Given the description of an element on the screen output the (x, y) to click on. 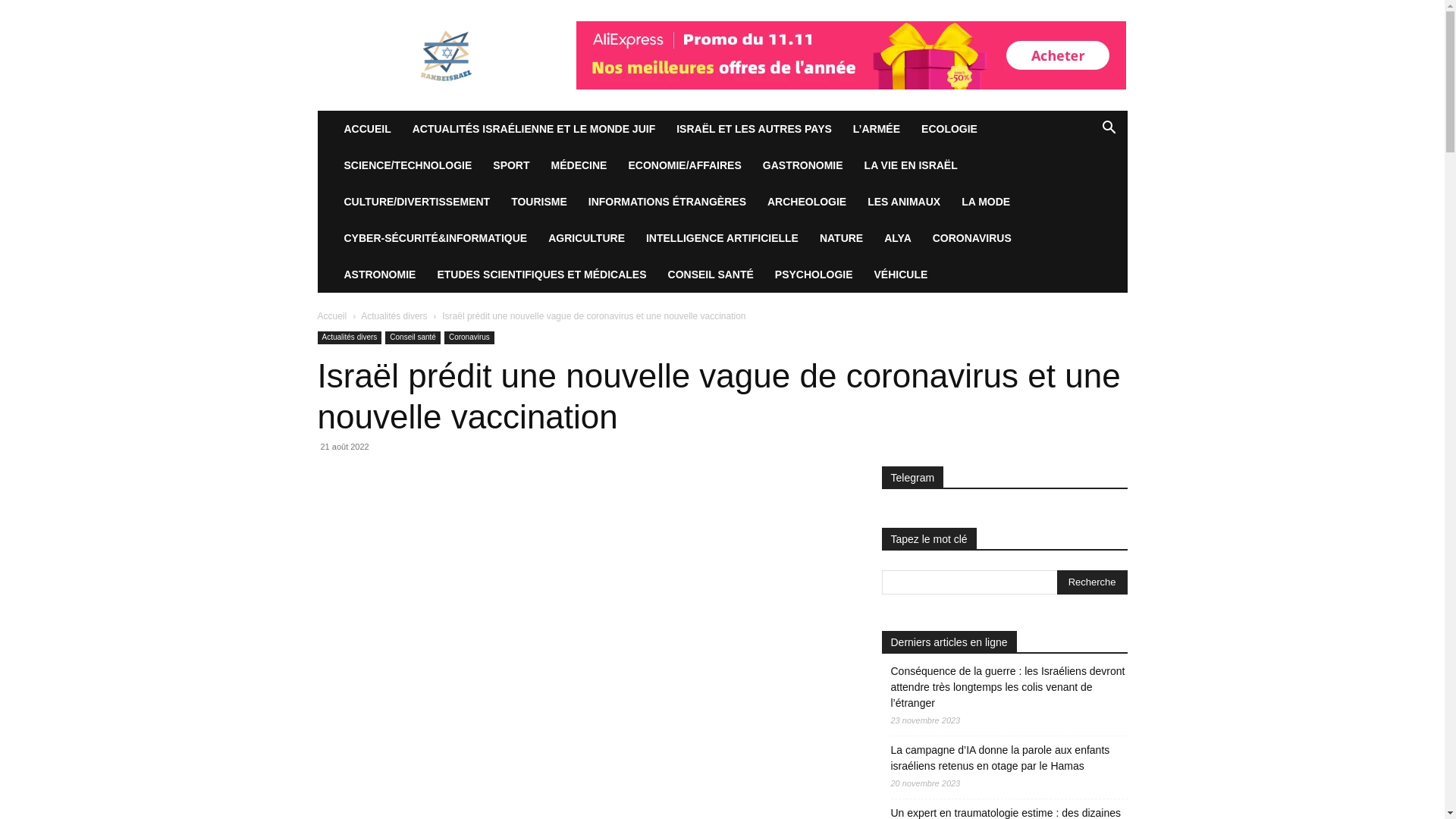
ALYA Element type: text (897, 237)
ECOLOGIE Element type: text (949, 128)
NATURE Element type: text (841, 237)
LA MODE Element type: text (985, 201)
LES ANIMAUX Element type: text (903, 201)
Coronavirus Element type: text (469, 337)
ASTRONOMIE Element type: text (379, 274)
PSYCHOLOGIE Element type: text (813, 274)
Recherche Element type: text (1092, 582)
TOURISME Element type: text (538, 201)
ARCHEOLOGIE Element type: text (806, 201)
Recherche Element type: text (1076, 189)
AGRICULTURE Element type: text (586, 237)
SPORT Element type: text (510, 165)
ACCUEIL Element type: text (367, 128)
Rak Be Israel, le site qui fait sourire sur Israel ! Element type: hover (445, 55)
Accueil Element type: text (331, 315)
INTELLIGENCE ARTIFICIELLE Element type: text (722, 237)
ECONOMIE/AFFAIRES Element type: text (684, 165)
CULTURE/DIVERTISSEMENT Element type: text (417, 201)
GASTRONOMIE Element type: text (802, 165)
CORONAVIRUS Element type: text (972, 237)
SCIENCE/TECHNOLOGIE Element type: text (408, 165)
